Given the description of an element on the screen output the (x, y) to click on. 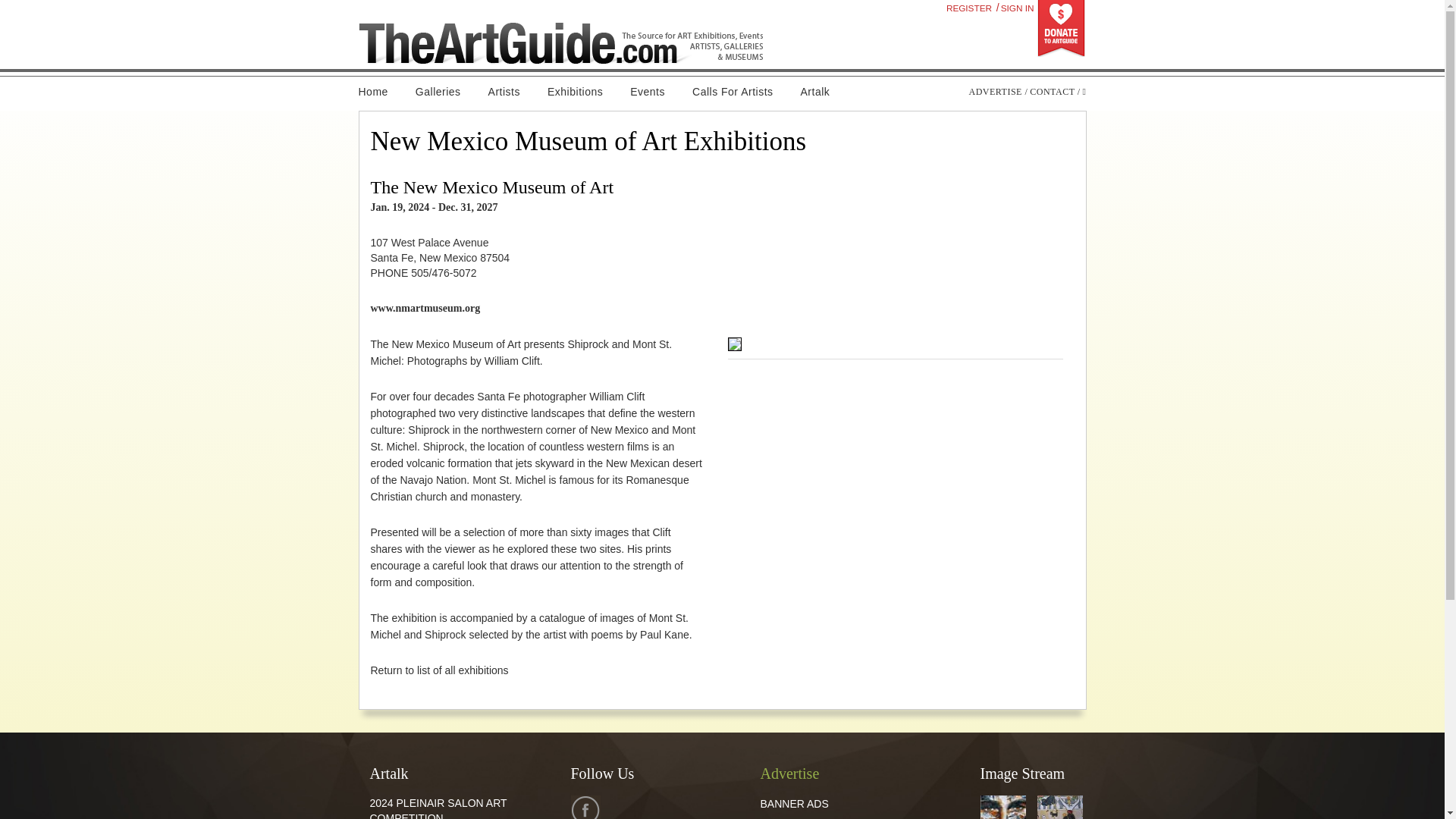
REGISTER (968, 8)
Events (646, 91)
Return to list of all exhibitions (438, 670)
BANNER ADS (794, 803)
Artalk (815, 91)
Exhibitions (574, 91)
2024 PLEINAIR SALON ART COMPETITION (437, 807)
Calls For Artists (732, 91)
www.nmartmuseum.org (424, 307)
SIGN IN (1016, 8)
Galleries (437, 91)
Artists (504, 91)
Home (379, 91)
